Given the description of an element on the screen output the (x, y) to click on. 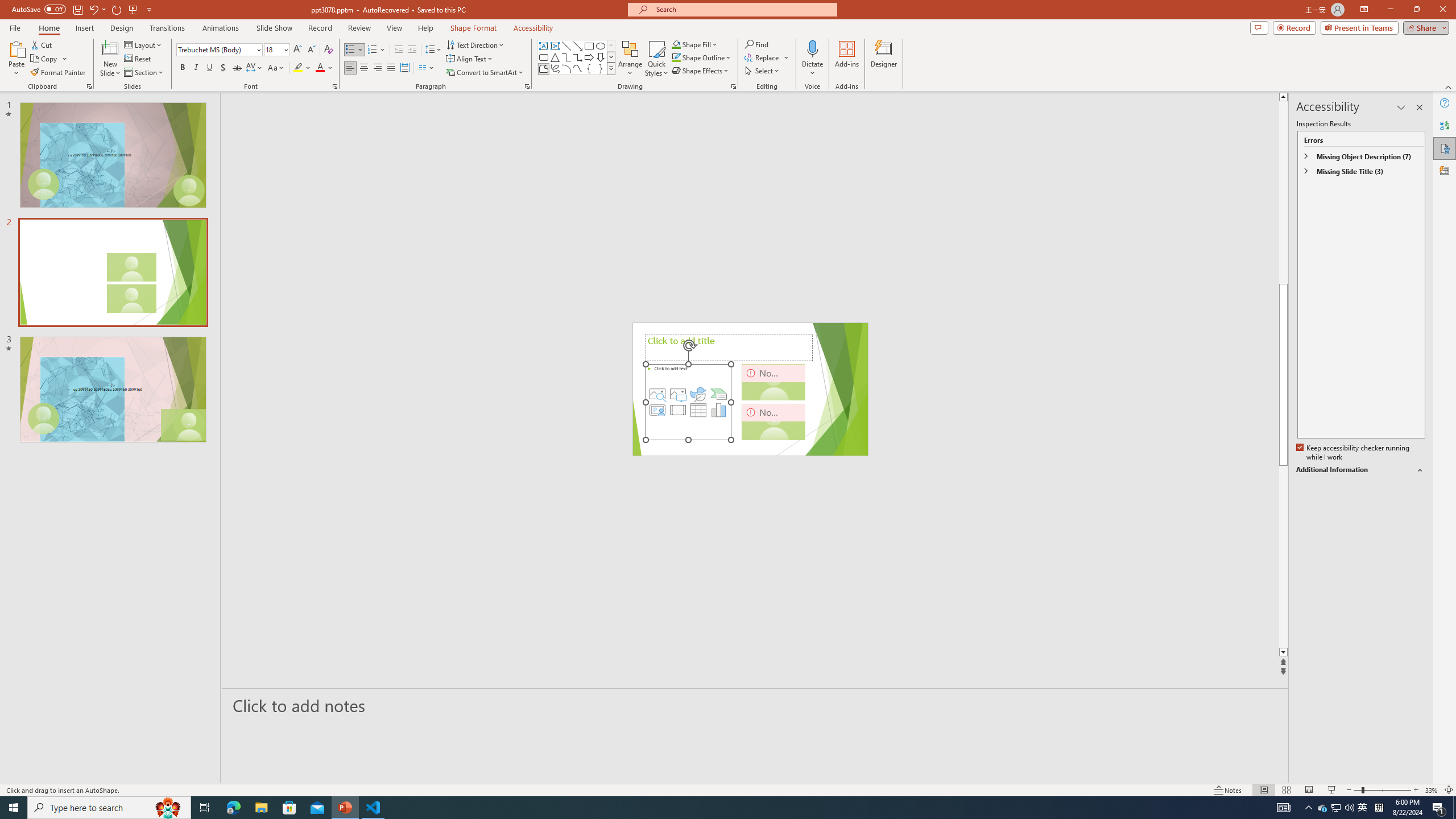
Insert Table (697, 409)
